Given the description of an element on the screen output the (x, y) to click on. 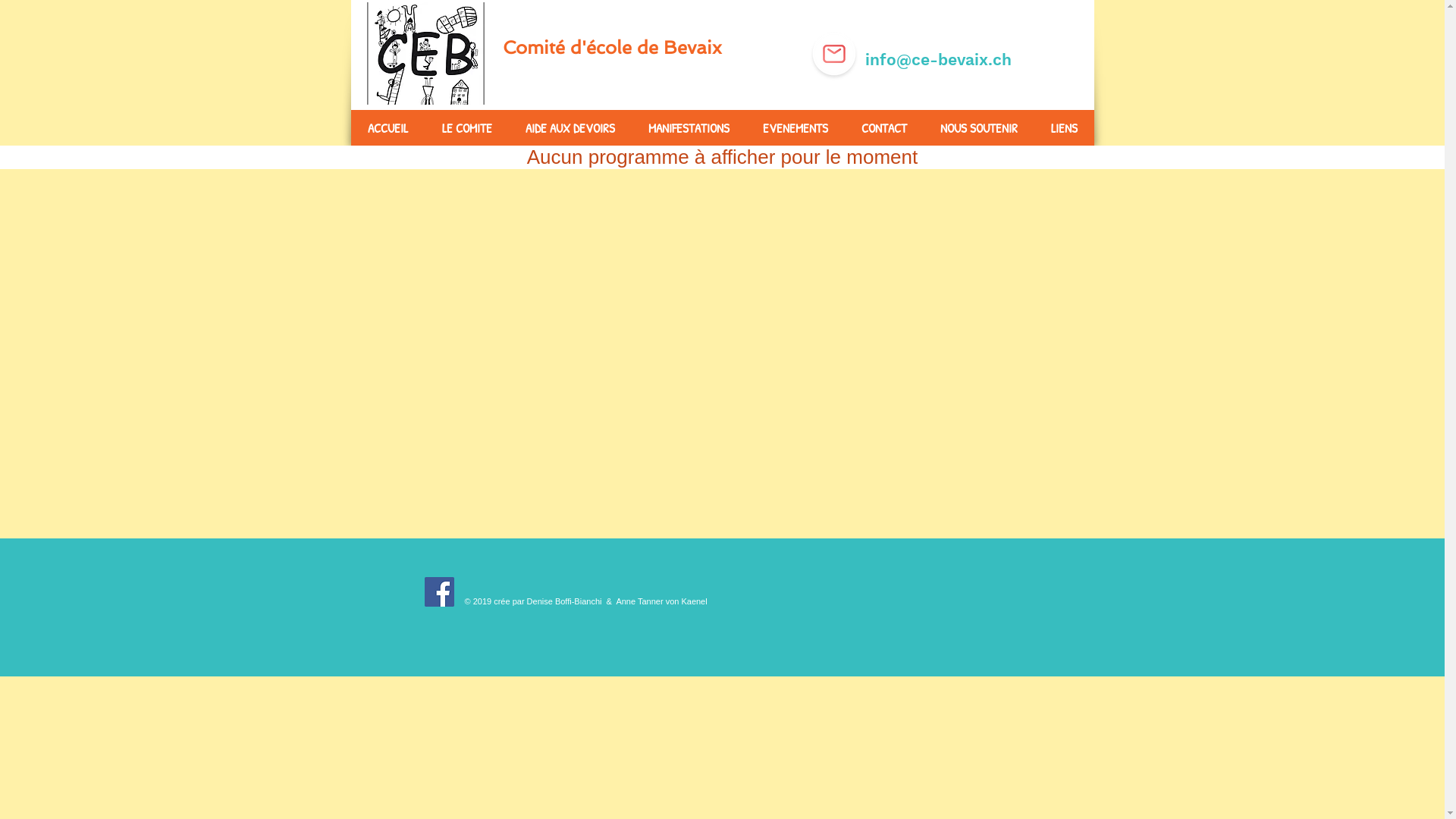
AIDE AUX DEVOIRS Element type: text (569, 127)
NOUS SOUTENIR Element type: text (978, 127)
MANIFESTATIONS Element type: text (687, 127)
LIENS Element type: text (1064, 127)
EVENEMENTS Element type: text (795, 127)
ACCUEIL Element type: text (387, 127)
LE COMITE Element type: text (466, 127)
 info@ce-bevaix.ch Element type: text (934, 59)
CONTACT Element type: text (883, 127)
